Given the description of an element on the screen output the (x, y) to click on. 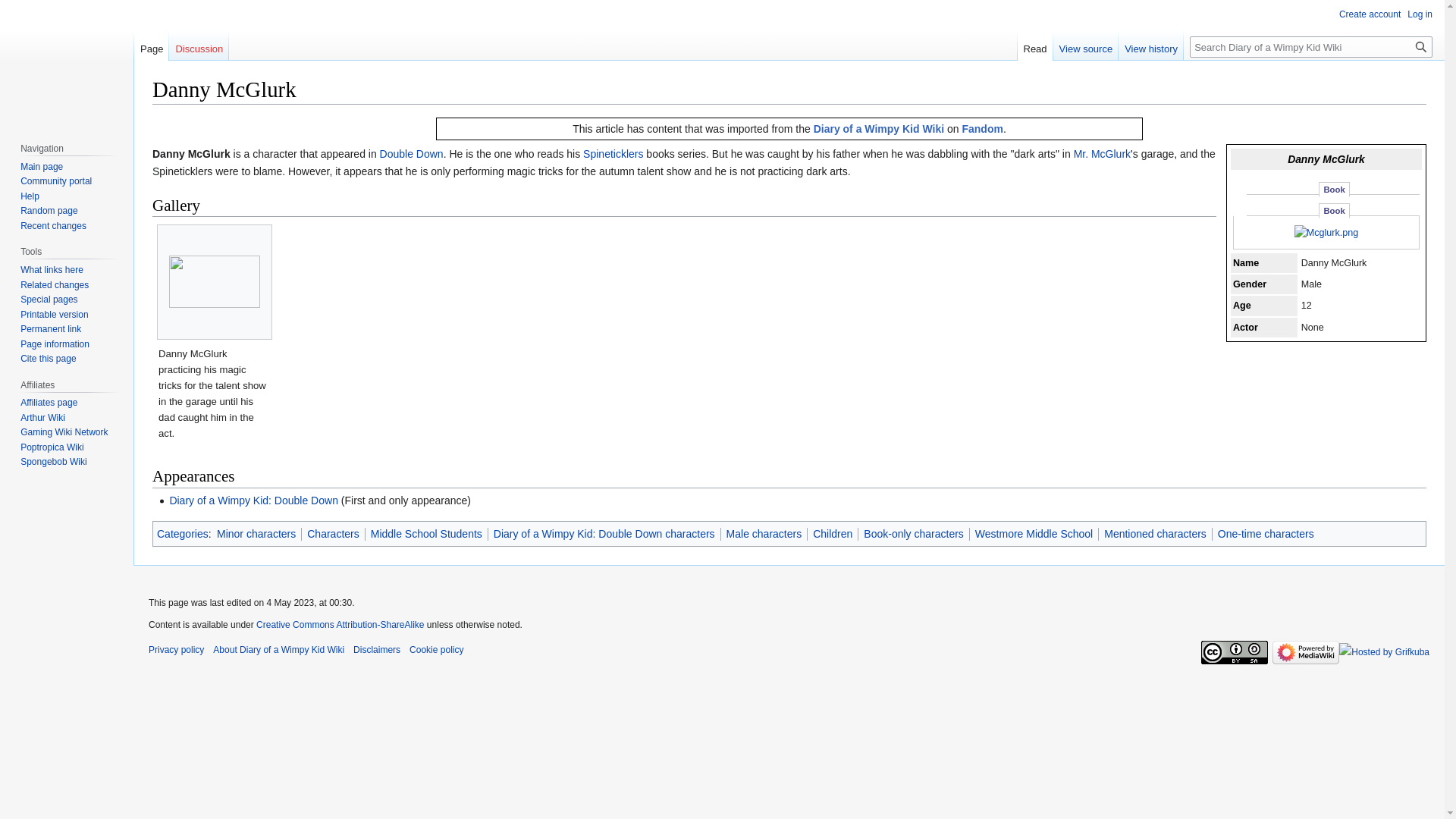
Mr. McGlurk (1102, 153)
Westmore Middle School (1034, 533)
Diary of a Wimpy Kid: Double Down (252, 500)
Main page (41, 166)
Category:Minor characters (255, 533)
Community portal (55, 181)
Discussion (198, 45)
Categories (182, 533)
Spineticklers (613, 153)
Book-only characters (913, 533)
